Given the description of an element on the screen output the (x, y) to click on. 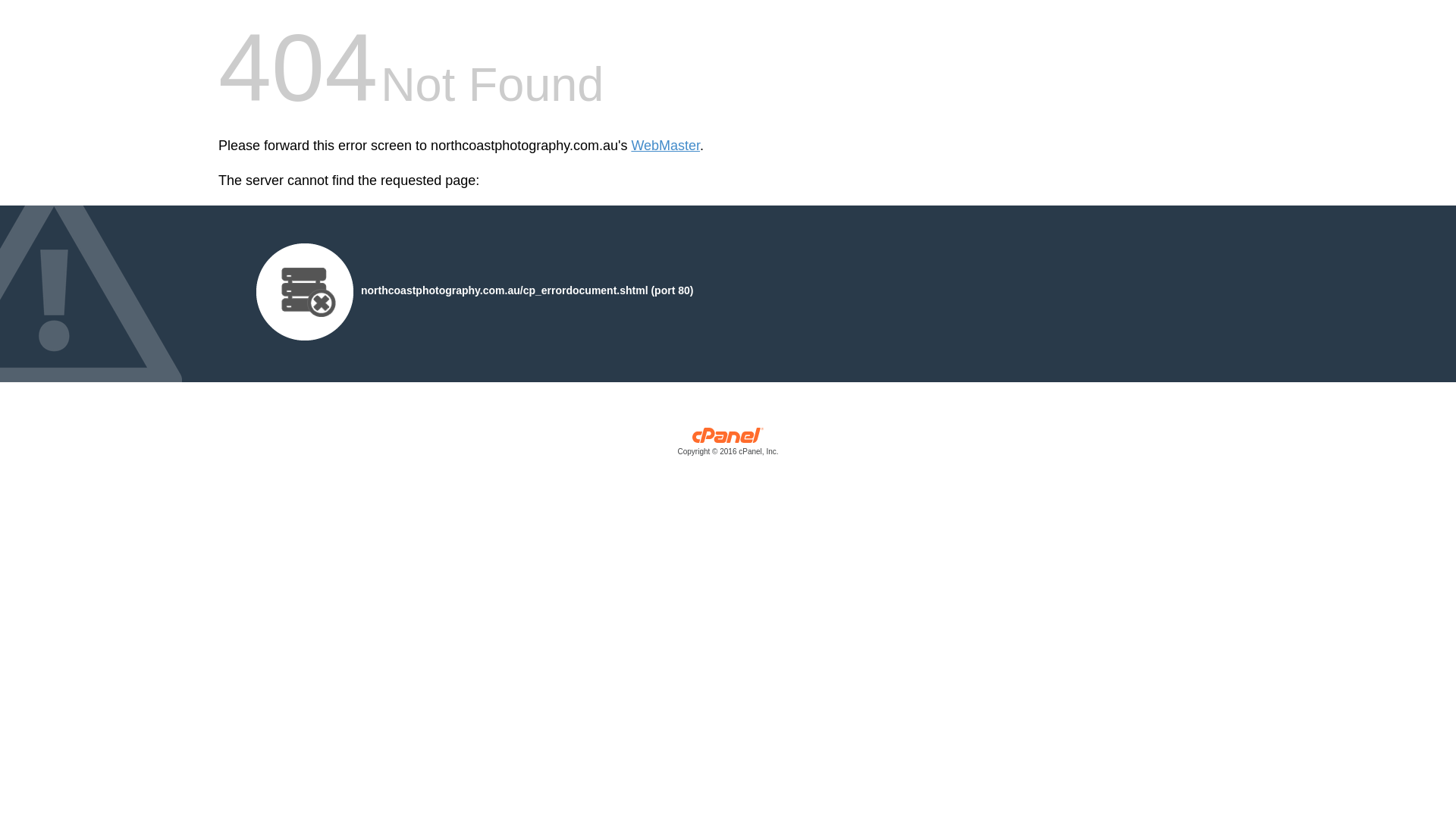
WebMaster Element type: text (664, 145)
